Given the description of an element on the screen output the (x, y) to click on. 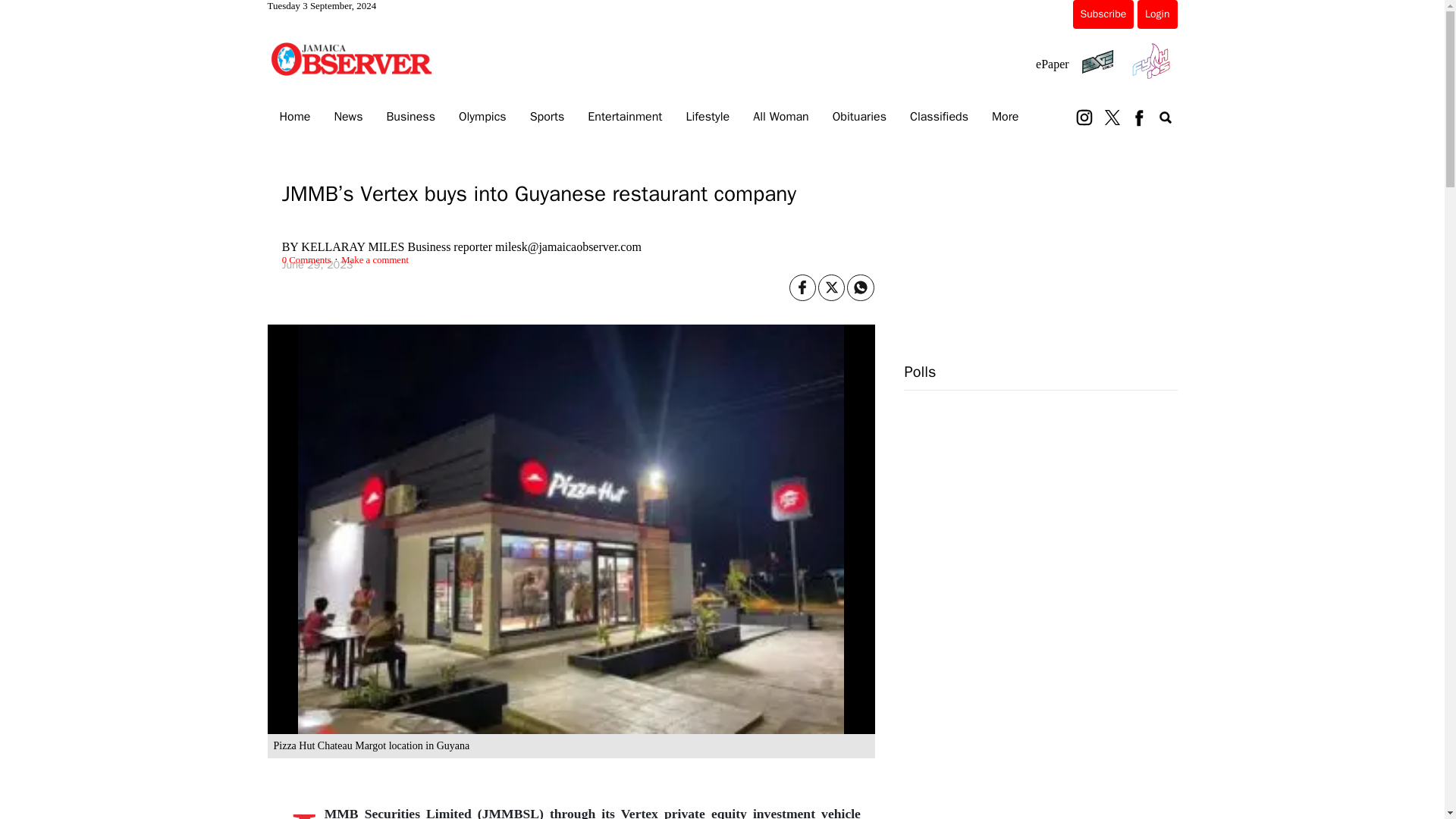
ePaper (1051, 64)
Subscribe (1103, 14)
Login (1156, 14)
